Given the description of an element on the screen output the (x, y) to click on. 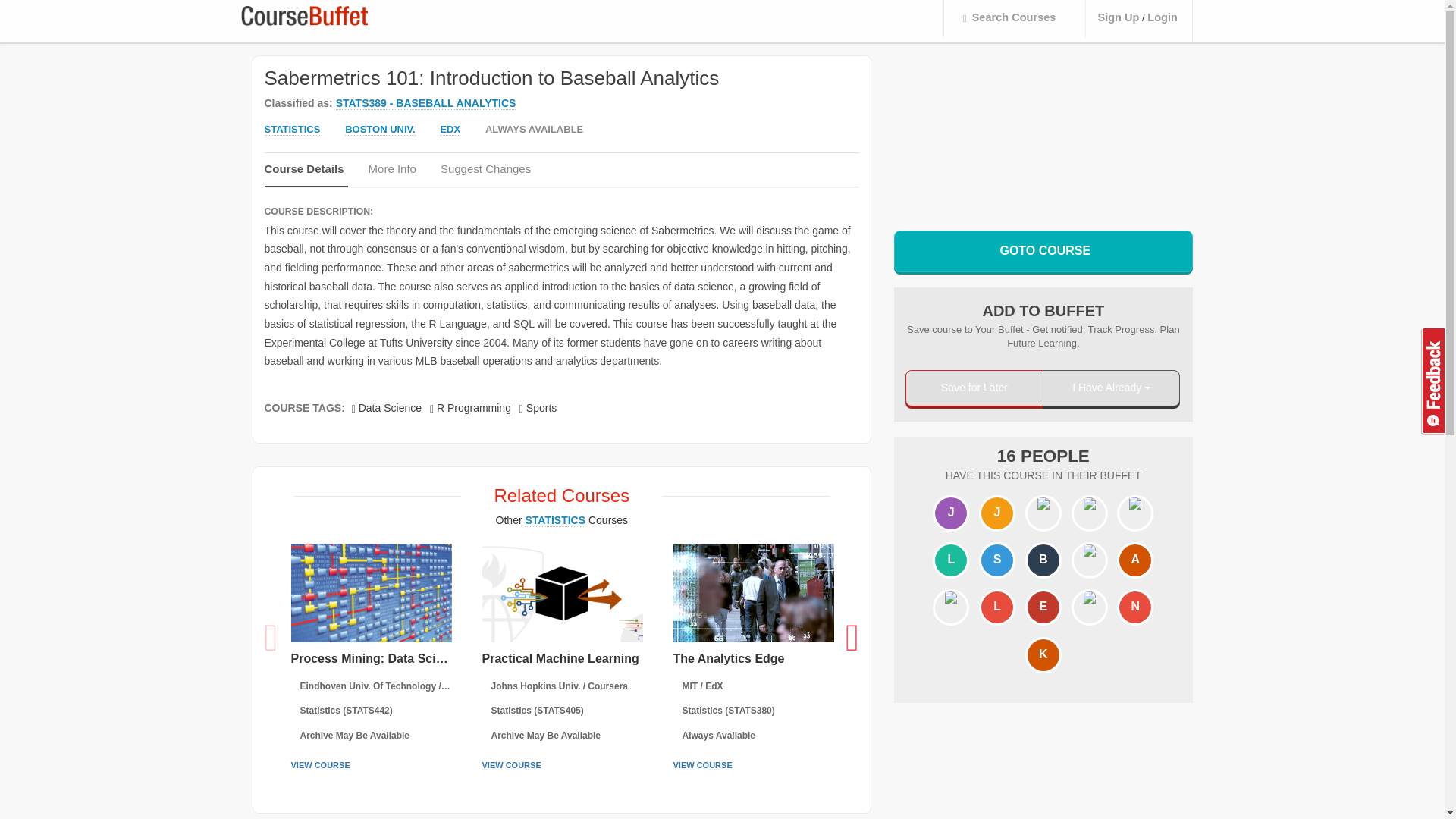
More Info (394, 172)
J (950, 513)
L (950, 560)
J (997, 513)
E (1043, 607)
A (1135, 560)
Search Data Science Courses (387, 408)
STATISTICS (291, 129)
I Have Already (1111, 388)
Course Details (305, 173)
R Programming (470, 408)
Suggest Changes (487, 172)
STATS389 - BASEBALL ANALYTICS (426, 103)
Sign Up (1117, 18)
N (1135, 607)
